Given the description of an element on the screen output the (x, y) to click on. 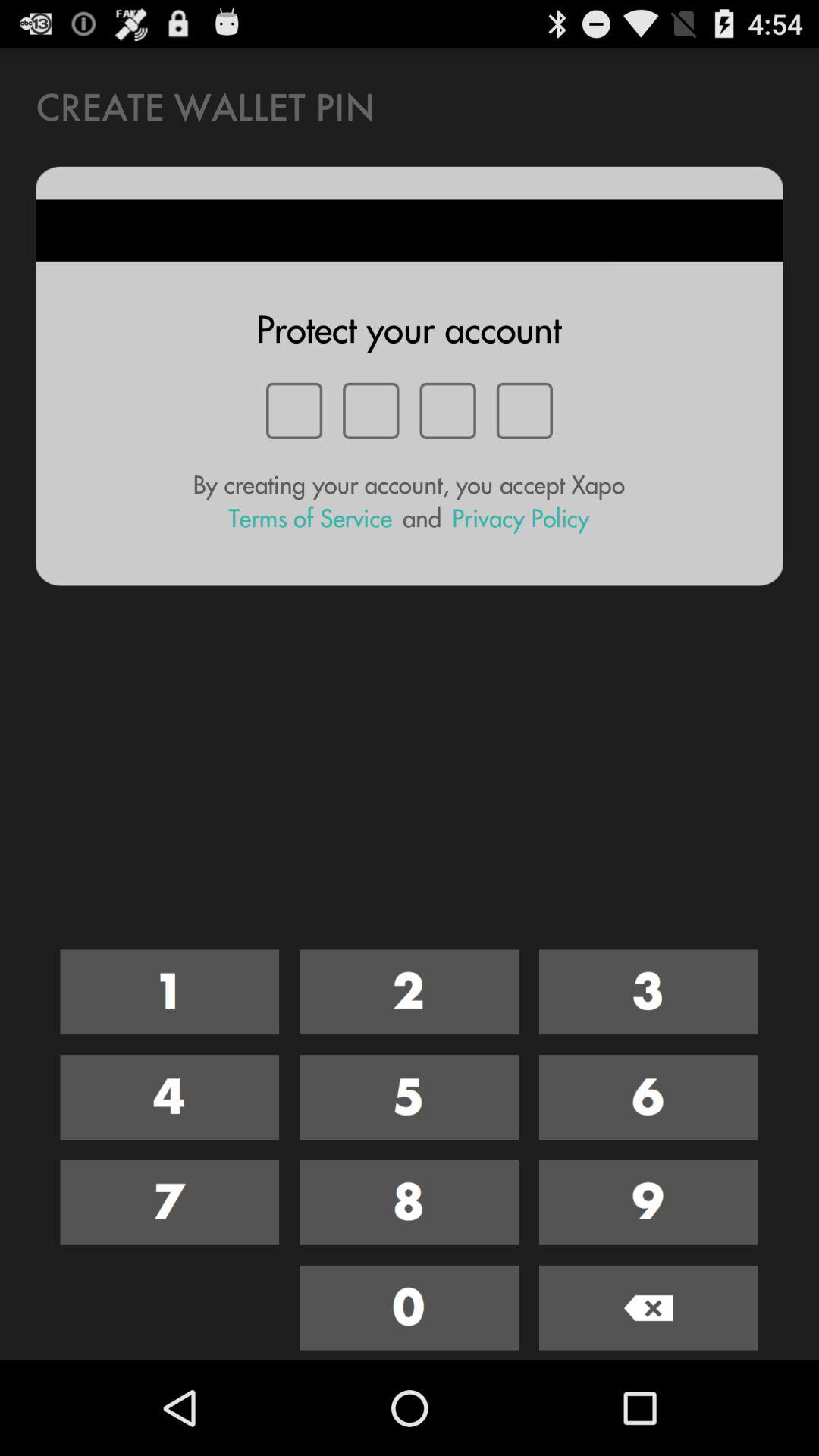
scroll until the terms of service item (310, 518)
